Given the description of an element on the screen output the (x, y) to click on. 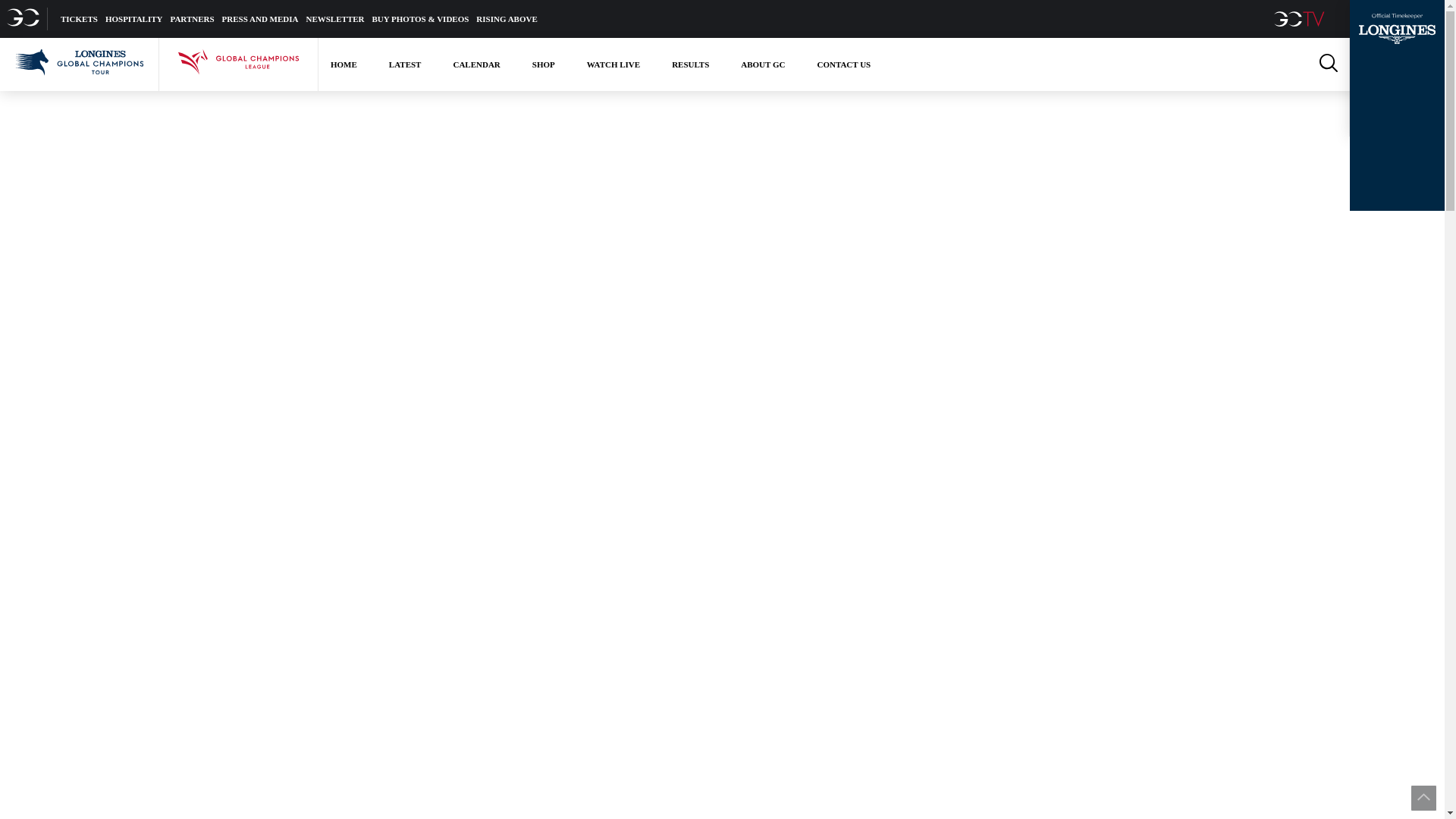
HOSPITALITY (133, 18)
GC (23, 18)
GCL (237, 63)
WATCH LIVE (613, 63)
RISING ABOVE (506, 18)
PRESS AND MEDIA (260, 18)
LGCT (79, 63)
PARTNERS (192, 18)
NEWSLETTER (334, 18)
GCTV (1300, 18)
CONTACT US (843, 63)
TICKETS (79, 18)
